Given the description of an element on the screen output the (x, y) to click on. 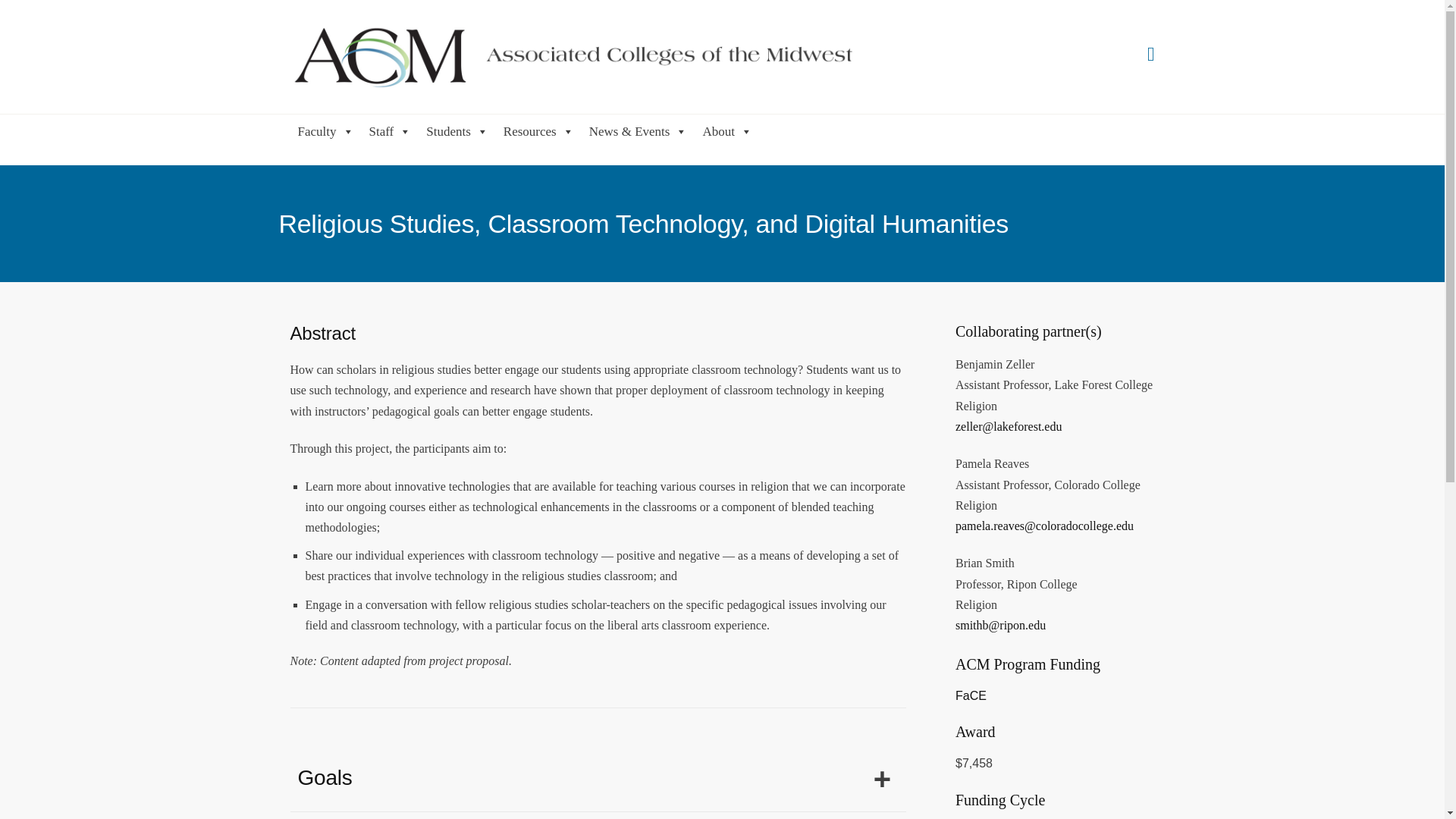
Students (457, 129)
Resources (538, 129)
Faculty (325, 129)
Staff (390, 129)
